Given the description of an element on the screen output the (x, y) to click on. 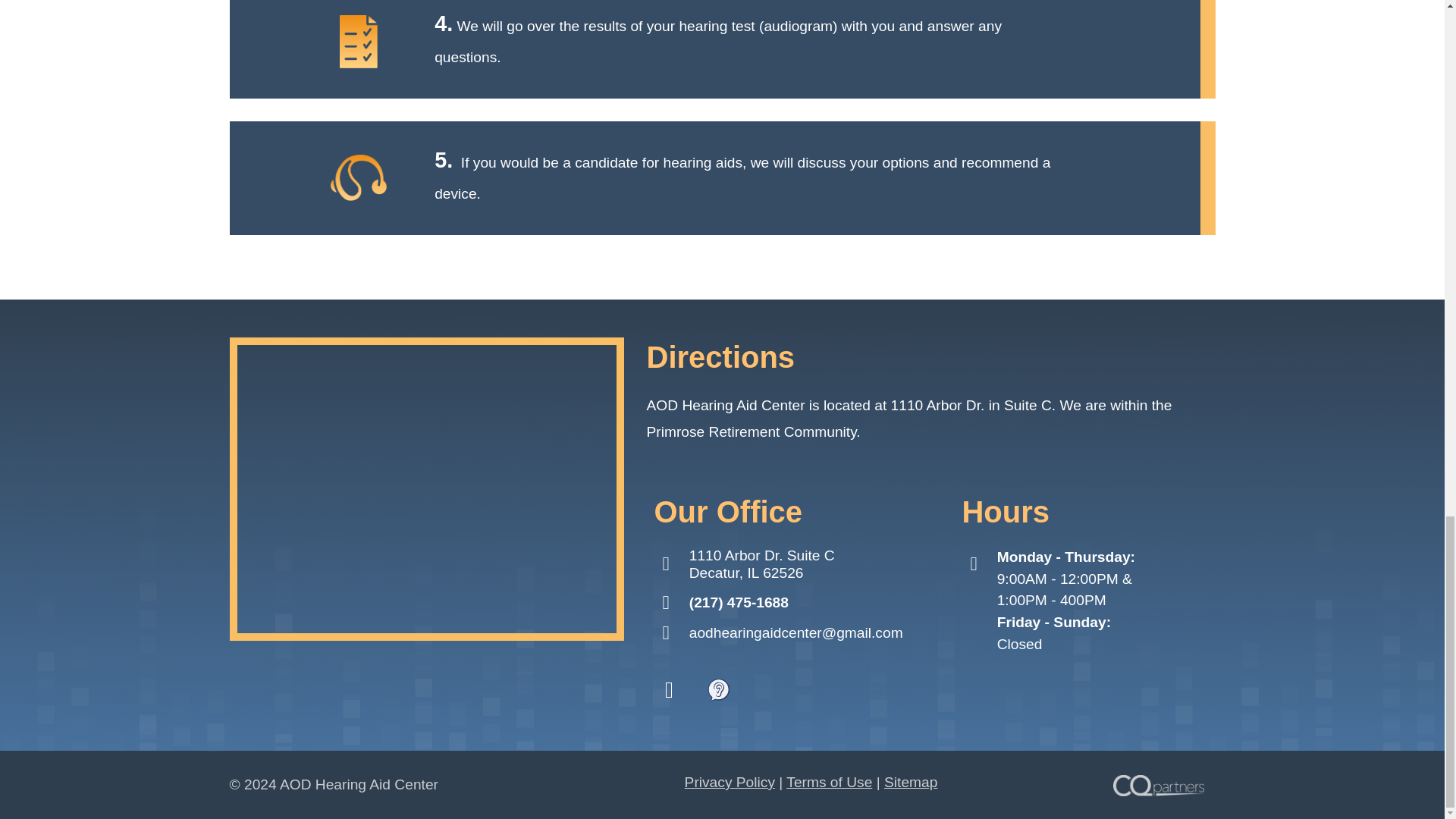
Terms of Use (829, 781)
Healthy Hearing Logo (718, 689)
Facebook (668, 689)
Privacy Policy (729, 781)
Sitemap (910, 781)
